Given the description of an element on the screen output the (x, y) to click on. 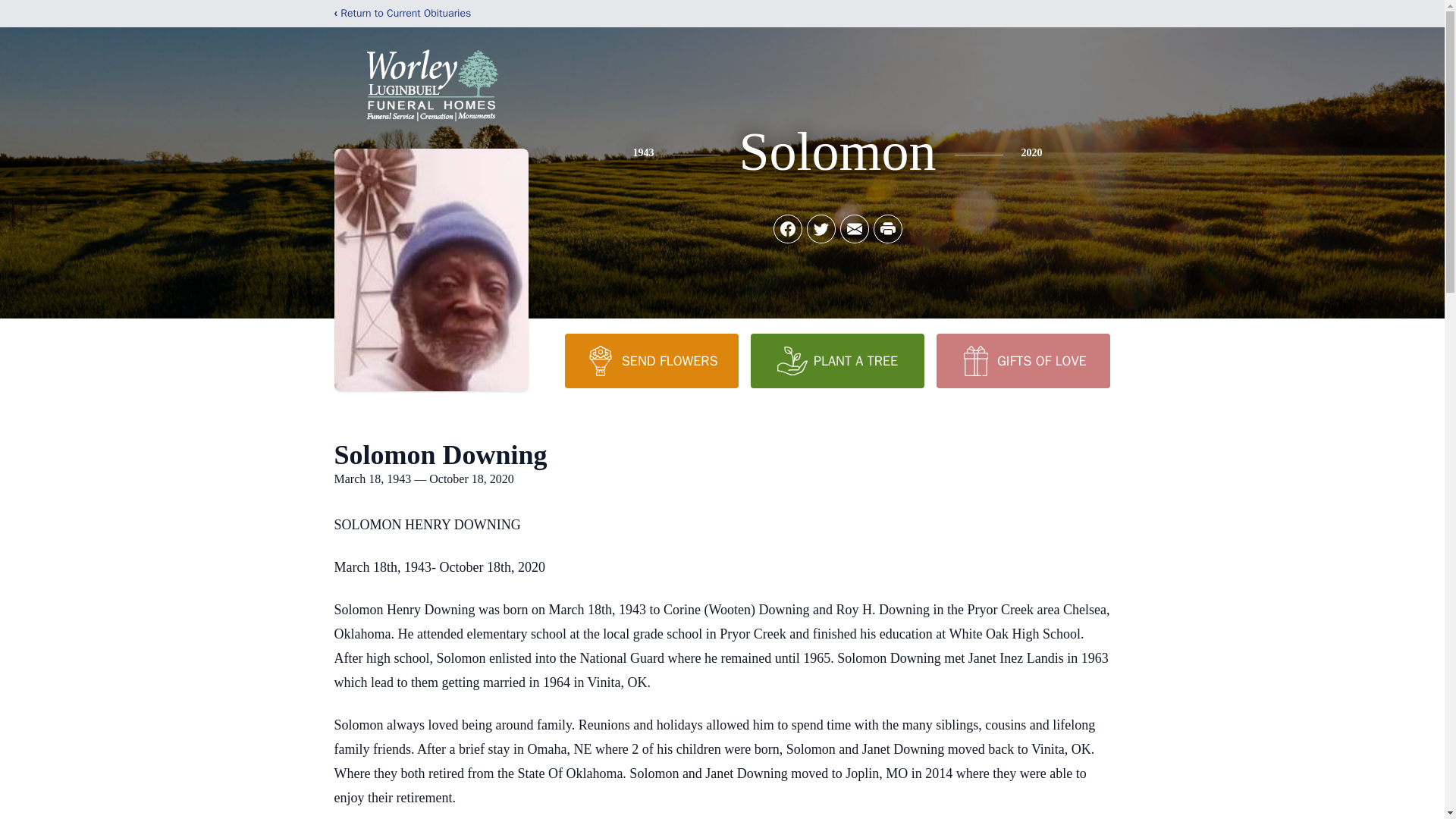
SEND FLOWERS (651, 360)
GIFTS OF LOVE (1022, 360)
PLANT A TREE (837, 360)
